Given the description of an element on the screen output the (x, y) to click on. 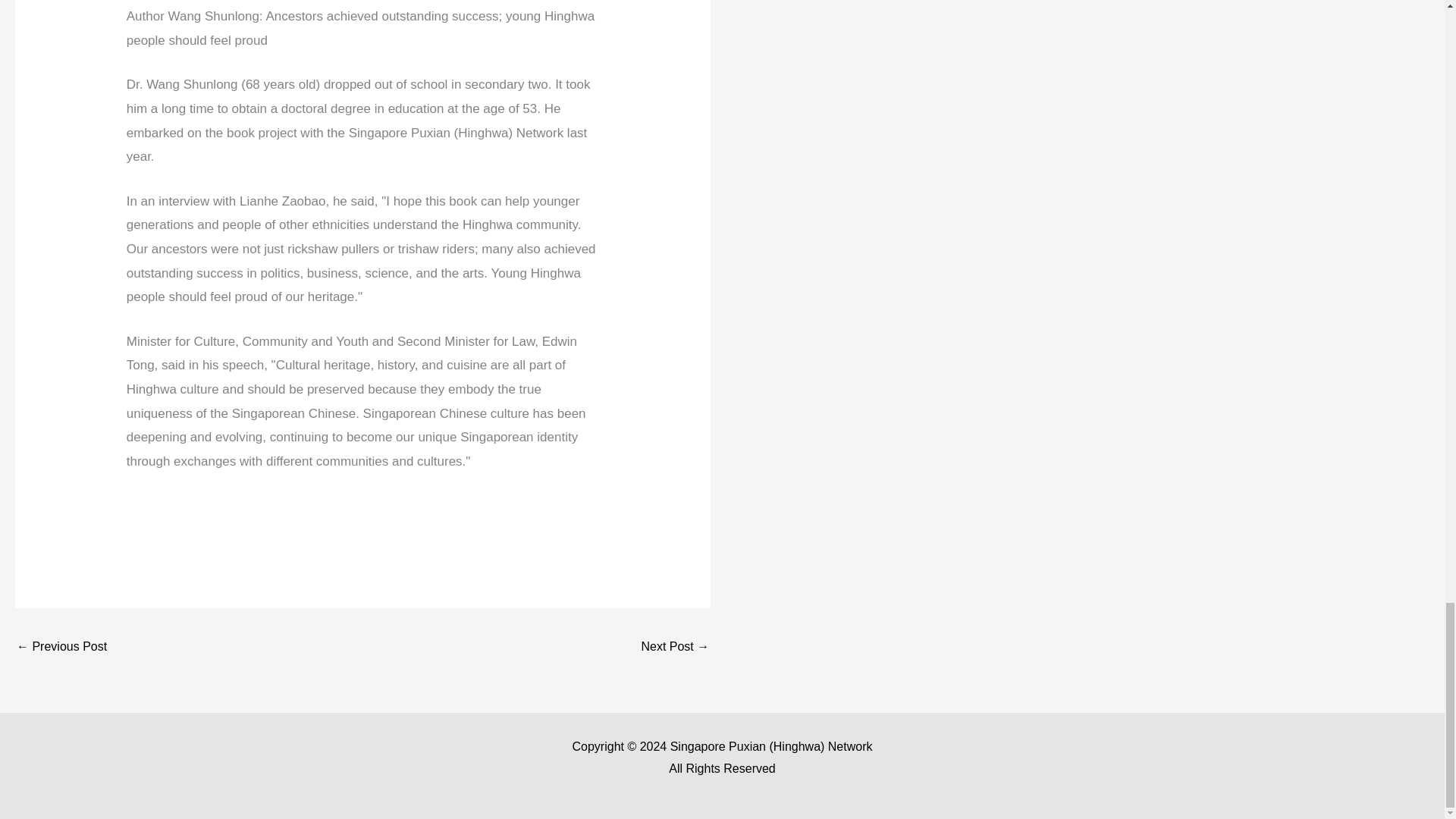
Launch of the 'Puxian Figures in Nanyang - Singapore Volume' (61, 647)
